Given the description of an element on the screen output the (x, y) to click on. 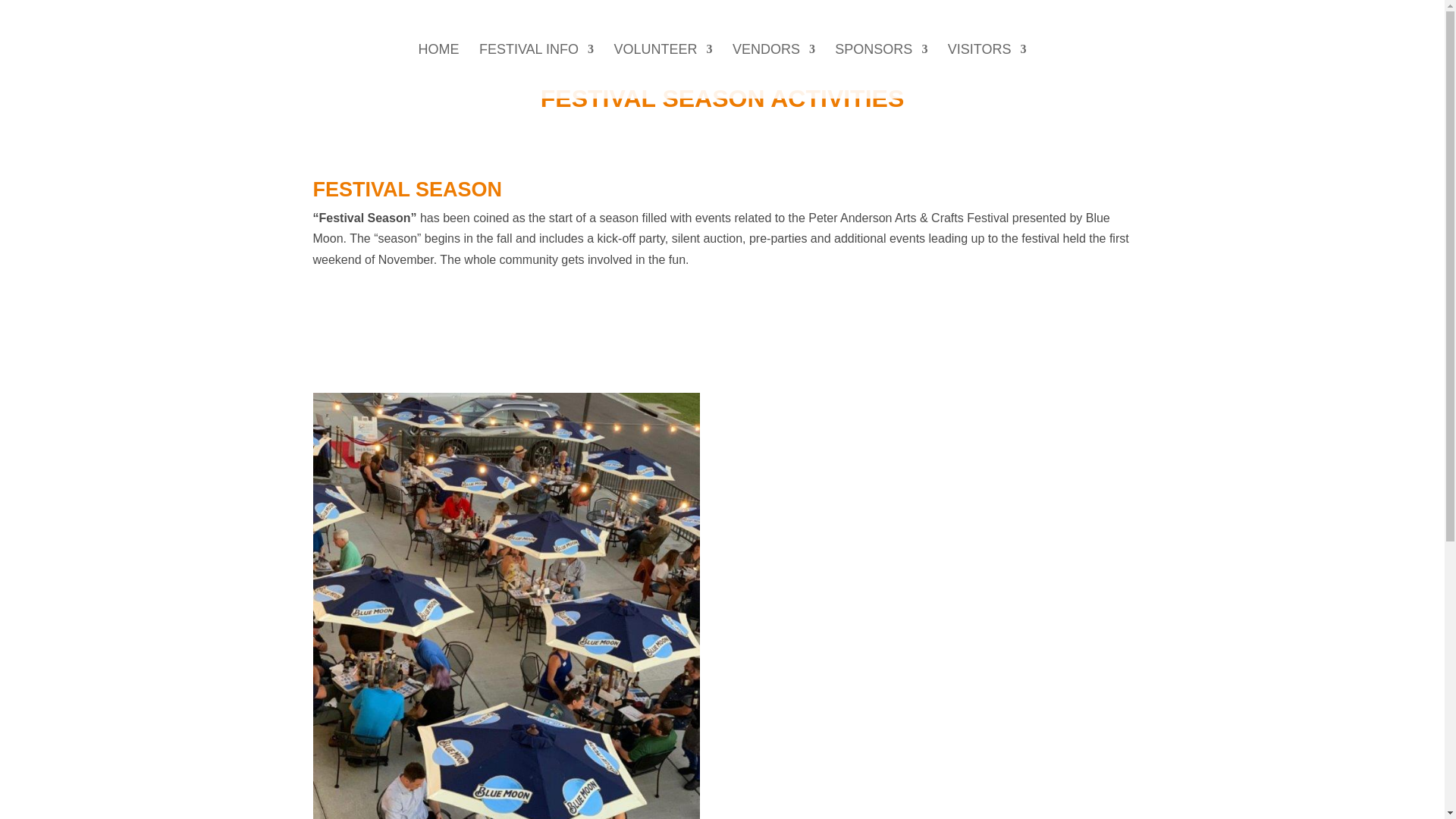
VOLUNTEER (661, 71)
SPONSORS (880, 71)
FESTIVAL INFO (536, 71)
VISITORS (986, 71)
VENDORS (773, 71)
